Given the description of an element on the screen output the (x, y) to click on. 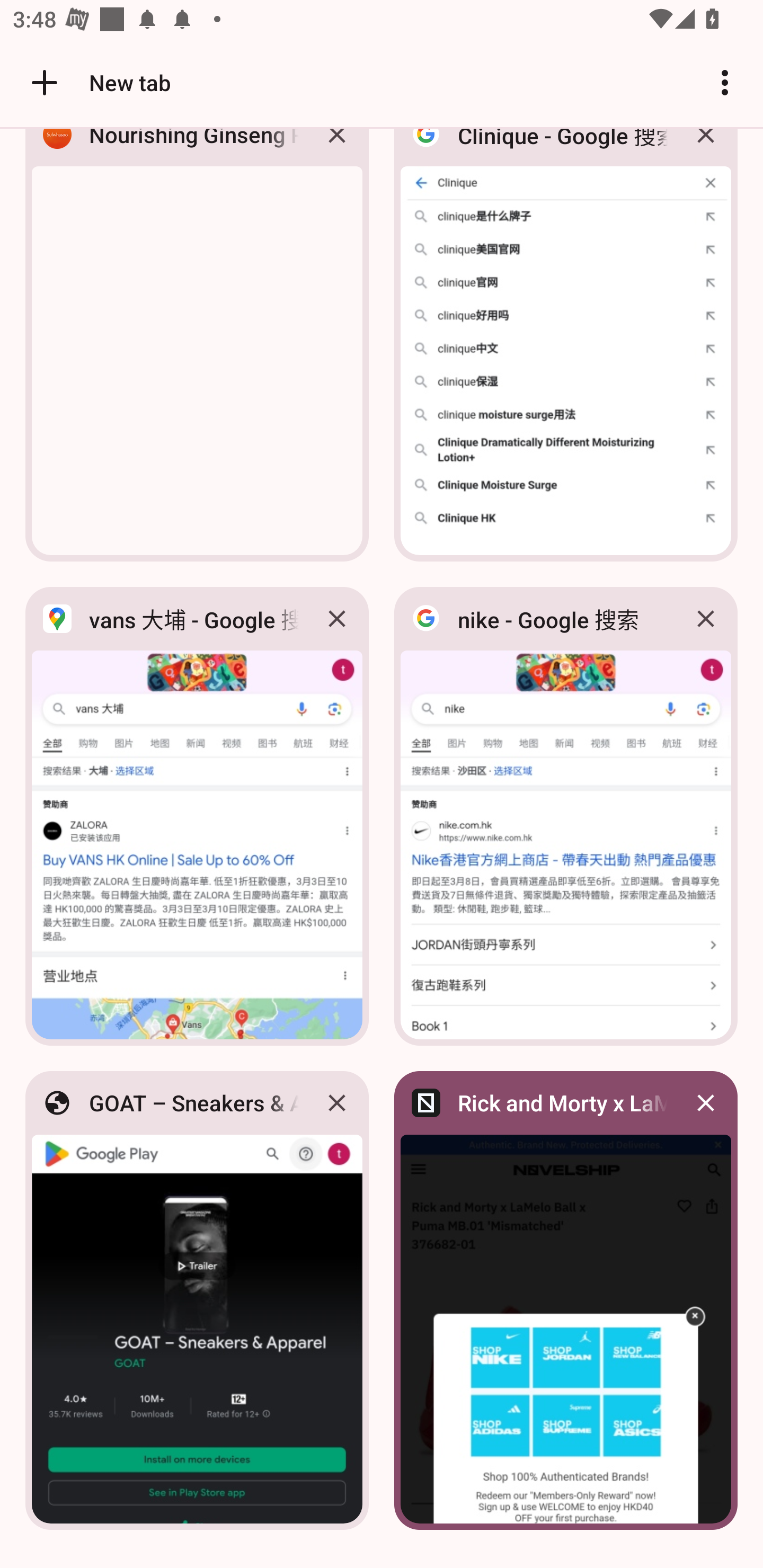
Open the home page (38, 82)
New tab (98, 82)
Customize and control Google Chrome (724, 82)
Customize and control Google Chrome (724, 82)
Close Clinique - Google 搜索 tab (705, 149)
Close vans 大埔 - Google 搜索 tab (337, 618)
Close nike - Google 搜索 tab (705, 618)
